Given the description of an element on the screen output the (x, y) to click on. 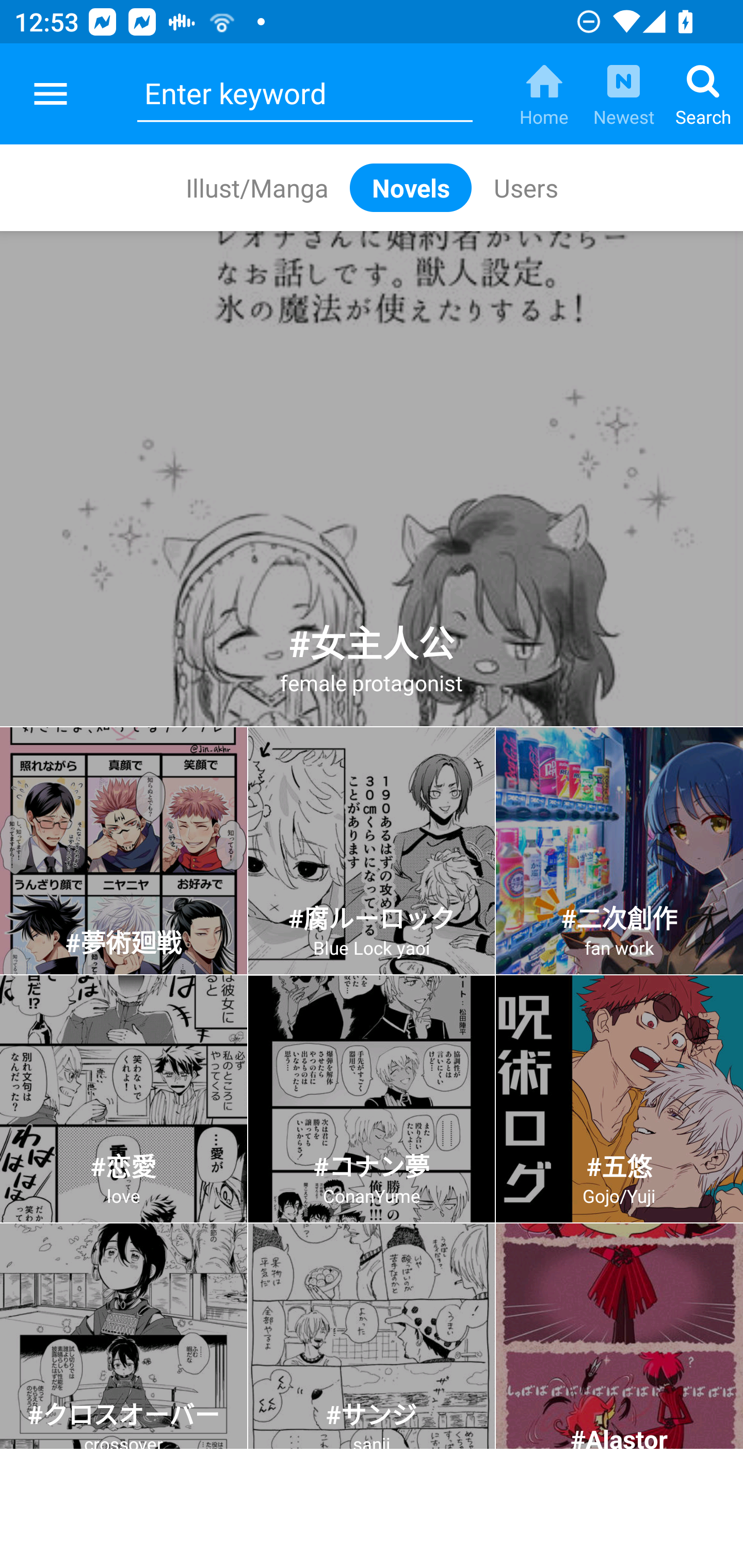
pixiv (50, 93)
Home (543, 93)
Newest (623, 93)
Enter keyword (304, 93)
Illust/Manga (256, 187)
Novels (410, 187)
Users (525, 187)
